Given the description of an element on the screen output the (x, y) to click on. 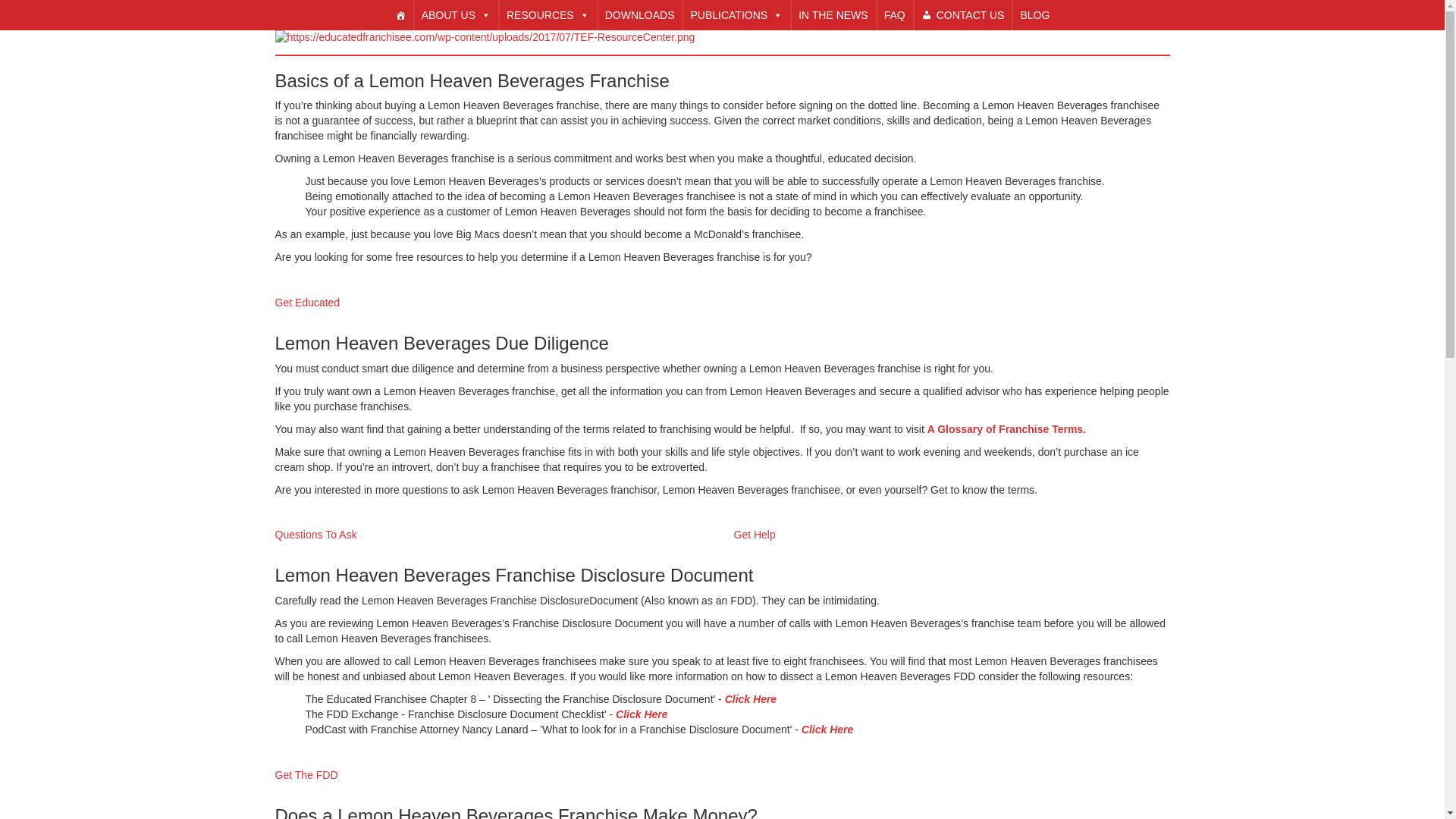
Click Here (750, 698)
Get Educated (307, 302)
CONTACT US (962, 15)
Click Here (827, 729)
ABOUT US (455, 15)
Get The FDD (306, 775)
Questions To Ask (315, 534)
BLOG (1034, 15)
DOWNLOADS (639, 15)
PUBLICATIONS (736, 15)
